Given the description of an element on the screen output the (x, y) to click on. 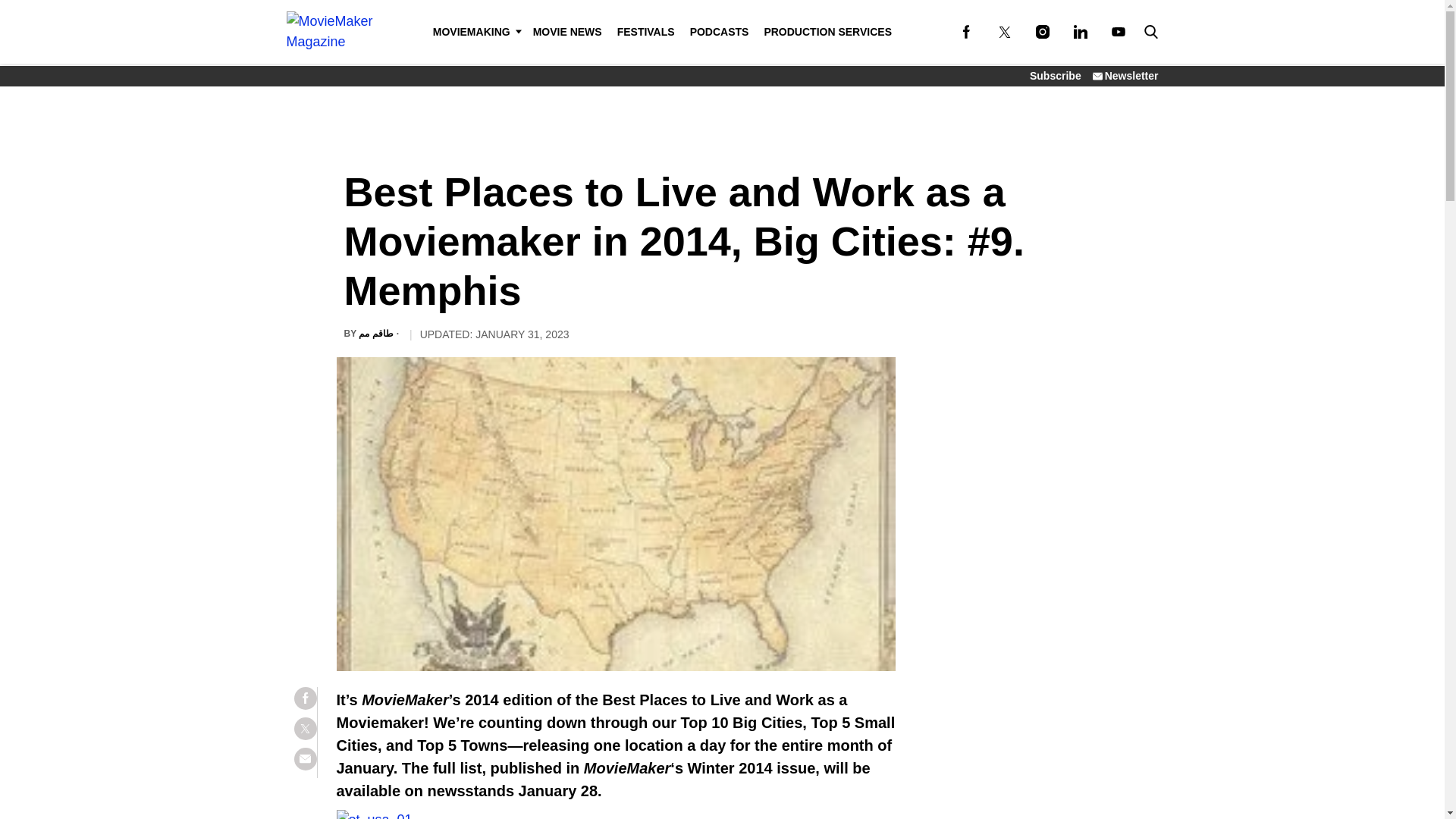
PRODUCTION SERVICES (827, 31)
Share via Email (305, 758)
PODCASTS (719, 31)
Share on Twitter (305, 728)
Share on Facebook (305, 698)
FESTIVALS (646, 31)
Subscribe (1055, 76)
MOVIE NEWS (567, 31)
MOVIEMAKING (475, 31)
Newsletter (1125, 76)
